Given the description of an element on the screen output the (x, y) to click on. 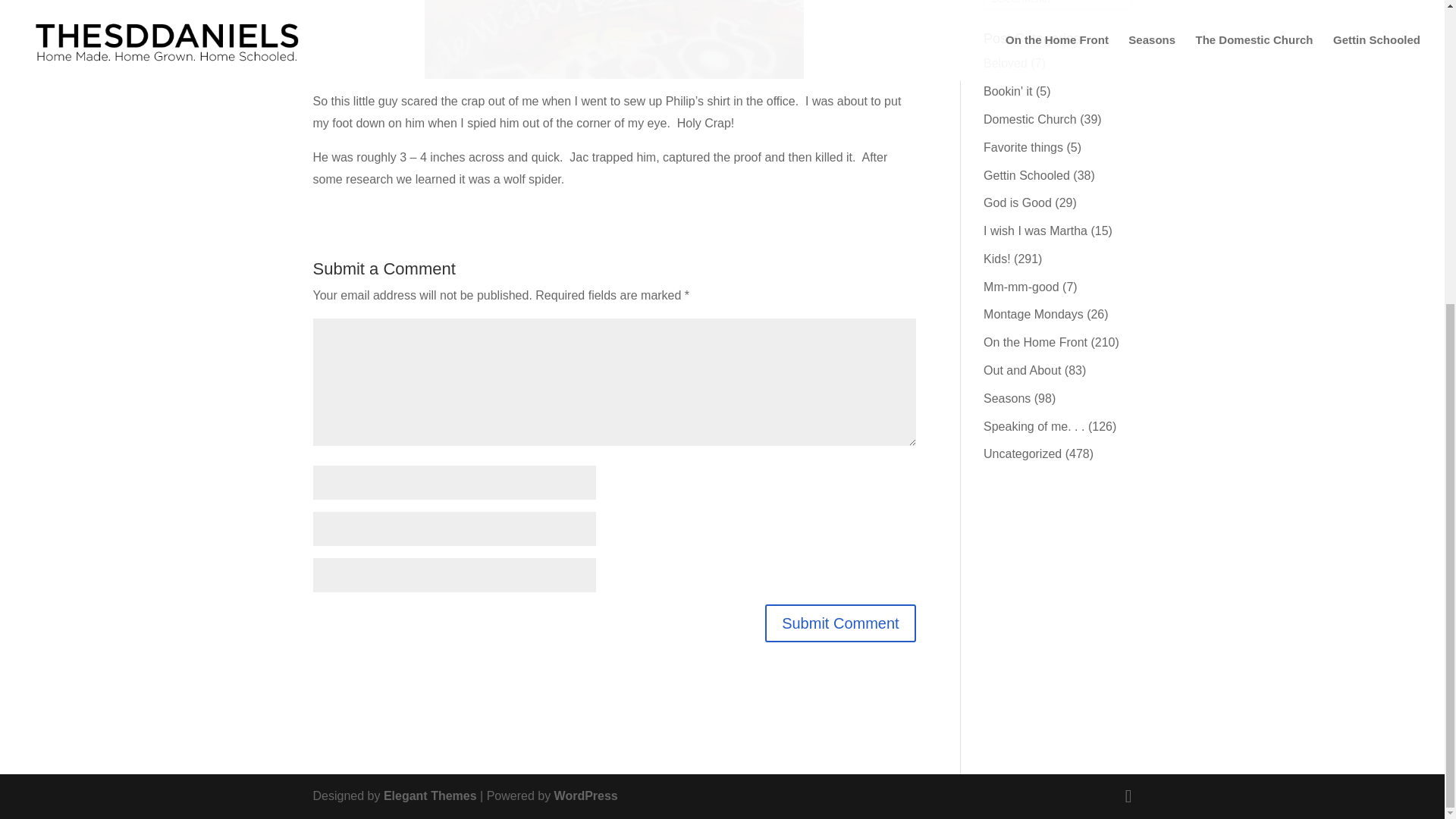
God is Good (1017, 202)
I wish I was Martha (1035, 230)
Submit Comment (840, 623)
Seasons (1007, 398)
Gettin Schooled (1027, 174)
WordPress (585, 795)
Domestic Church (1030, 119)
Submit Comment (840, 623)
Premium WordPress Themes (430, 795)
Out and About (1022, 369)
